Given the description of an element on the screen output the (x, y) to click on. 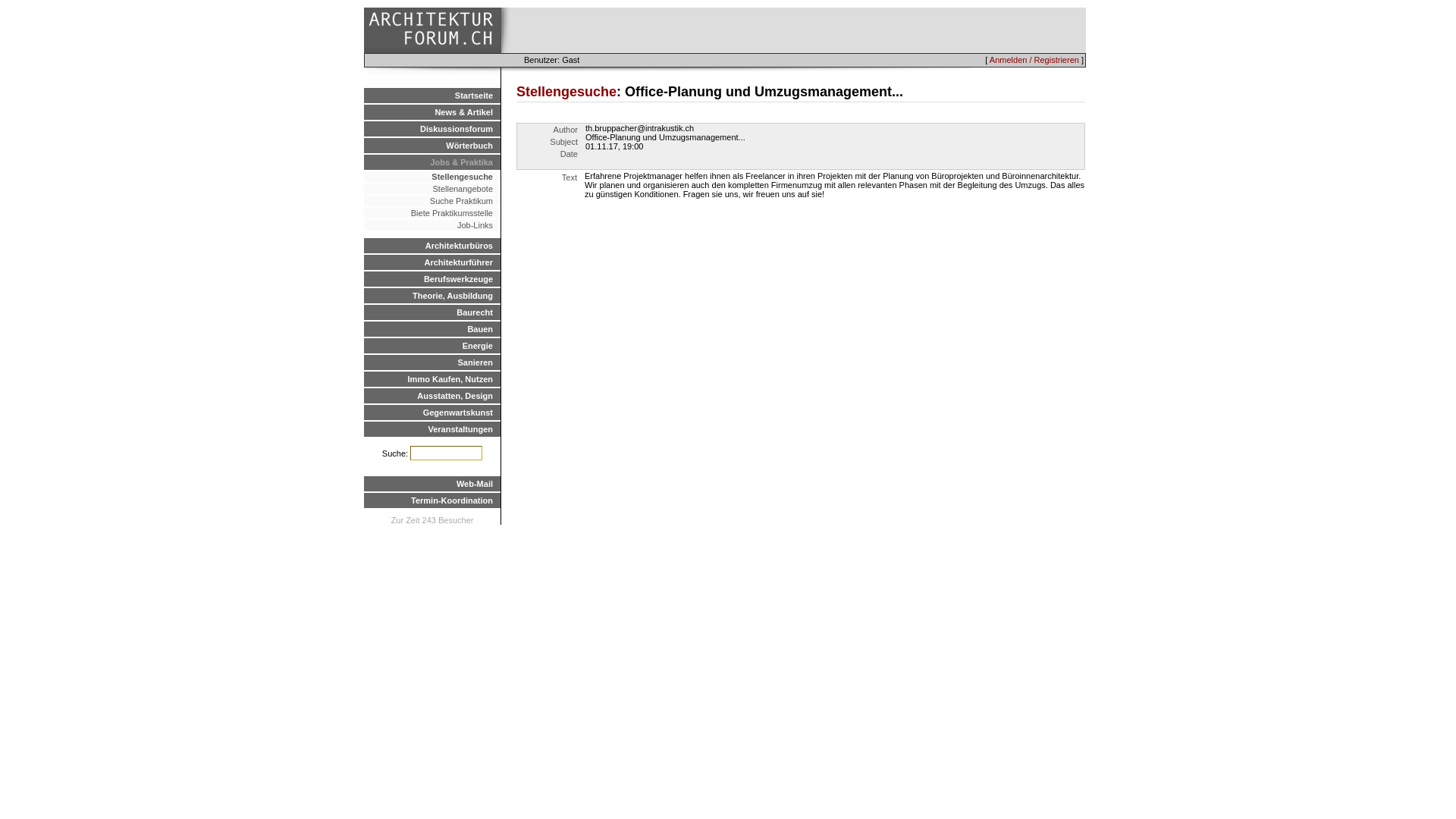
Ausstatten, Design Element type: text (432, 395)
Bauen Element type: text (432, 328)
Biete Praktikumsstelle Element type: text (432, 212)
Theorie, Ausbildung Element type: text (432, 295)
Diskussionsforum Element type: text (432, 128)
Energie Element type: text (432, 345)
Sanieren Element type: text (432, 362)
Job-Links Element type: text (432, 224)
Jobs & Praktika Element type: text (432, 161)
Startseite Element type: text (432, 95)
News & Artikel Element type: text (432, 111)
Baurecht Element type: text (432, 312)
Web-Mail Element type: text (432, 483)
Berufswerkzeuge Element type: text (432, 278)
Anmelden / Registrieren Element type: text (1034, 59)
Suche Praktikum Element type: text (432, 200)
Immo Kaufen, Nutzen Element type: text (432, 378)
Stellengesuche Element type: text (566, 91)
Veranstaltungen Element type: text (432, 428)
Stellengesuche Element type: text (432, 176)
Gegenwartskunst Element type: text (432, 412)
Termin-Koordination Element type: text (432, 500)
Stellenangebote Element type: text (432, 188)
